Given the description of an element on the screen output the (x, y) to click on. 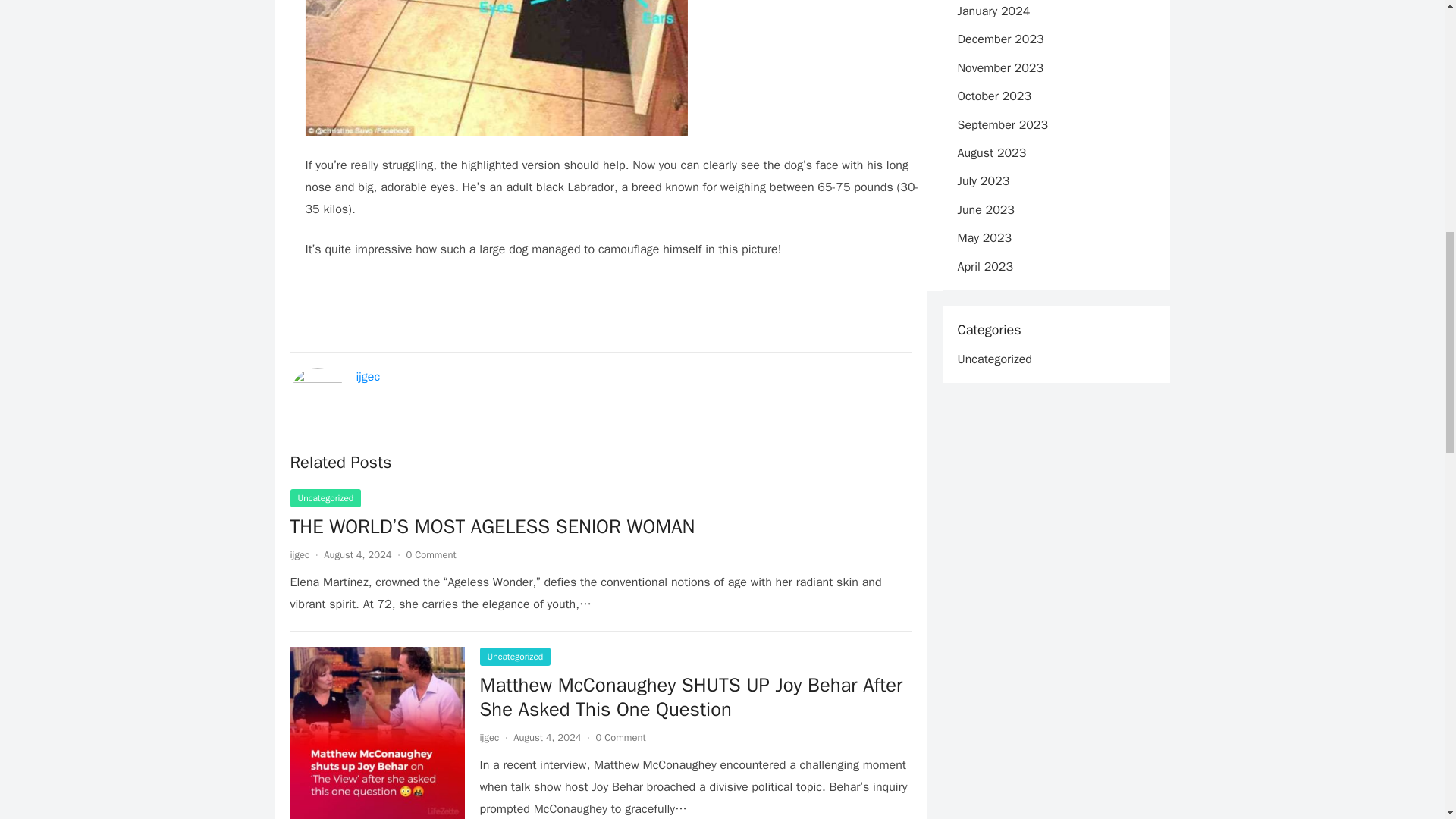
Posts by ijgec (489, 737)
ijgec (368, 376)
0 Comment (620, 737)
Uncategorized (514, 656)
Uncategorized (325, 497)
0 Comment (430, 554)
ijgec (489, 737)
ijgec (298, 554)
Posts by ijgec (298, 554)
